Given the description of an element on the screen output the (x, y) to click on. 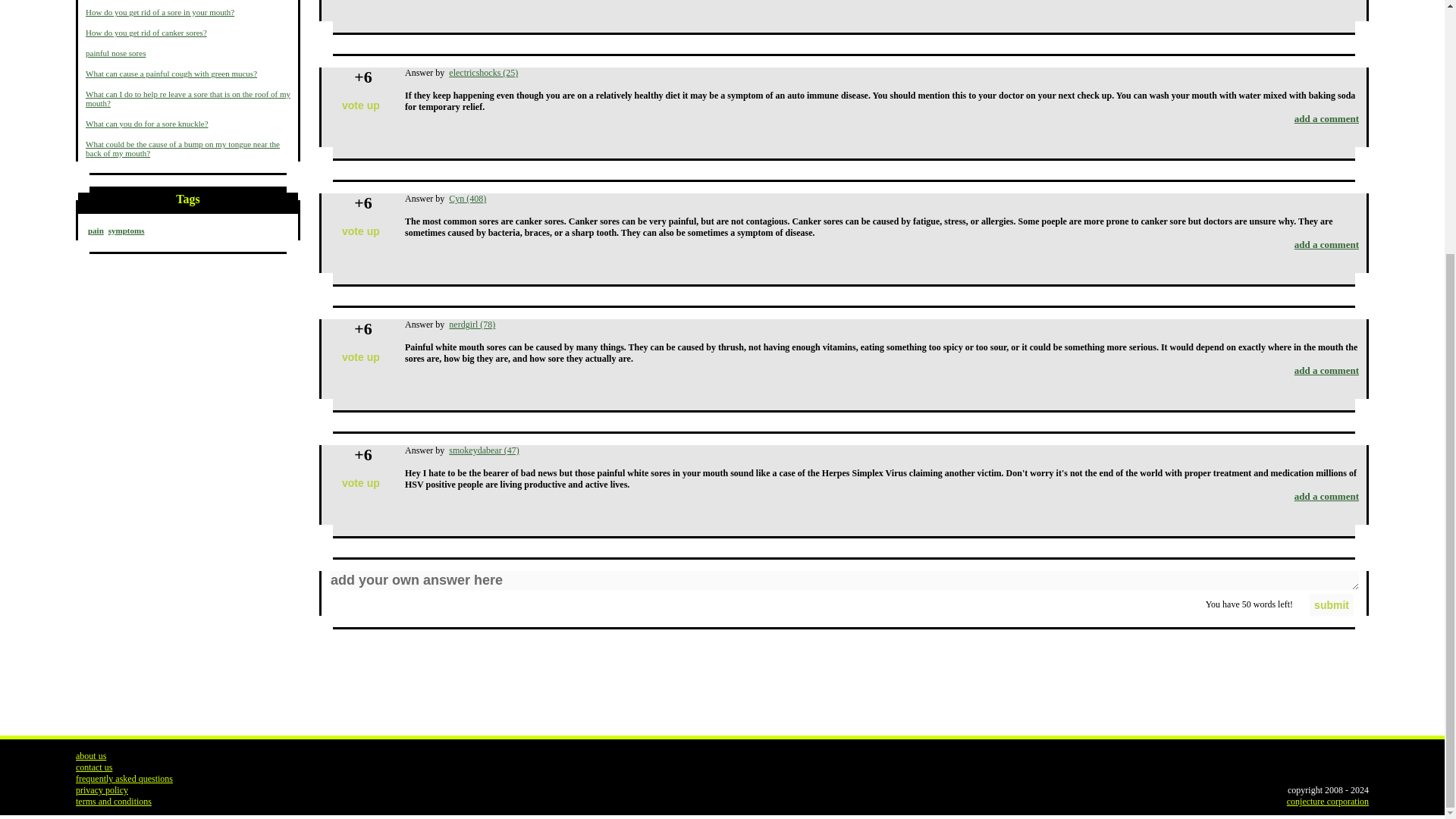
What can you do for a sore knuckle? (146, 122)
painful nose sores (115, 52)
How do you get rid of canker sores? (145, 31)
vote up (361, 357)
vote up (361, 106)
add a comment (1326, 369)
How do you get rid of a sore in your mouth? (159, 11)
add a comment (1326, 118)
Tags (187, 202)
add a comment (1326, 244)
vote up (361, 231)
symptoms (125, 230)
pain (95, 230)
